Given the description of an element on the screen output the (x, y) to click on. 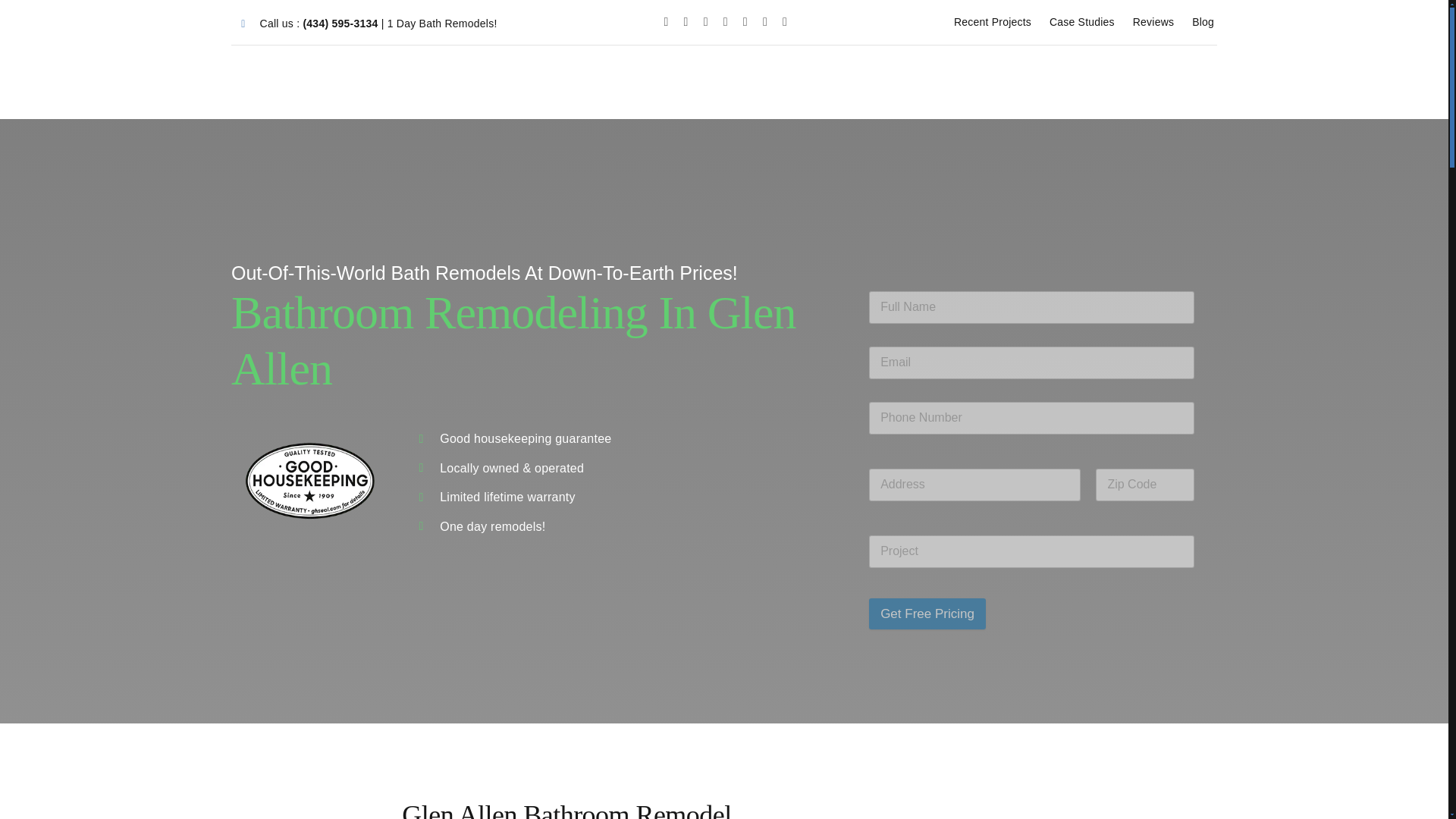
Blog (1203, 22)
Reviews (1152, 22)
Recent Projects (991, 22)
Case Studies (1082, 22)
